Given the description of an element on the screen output the (x, y) to click on. 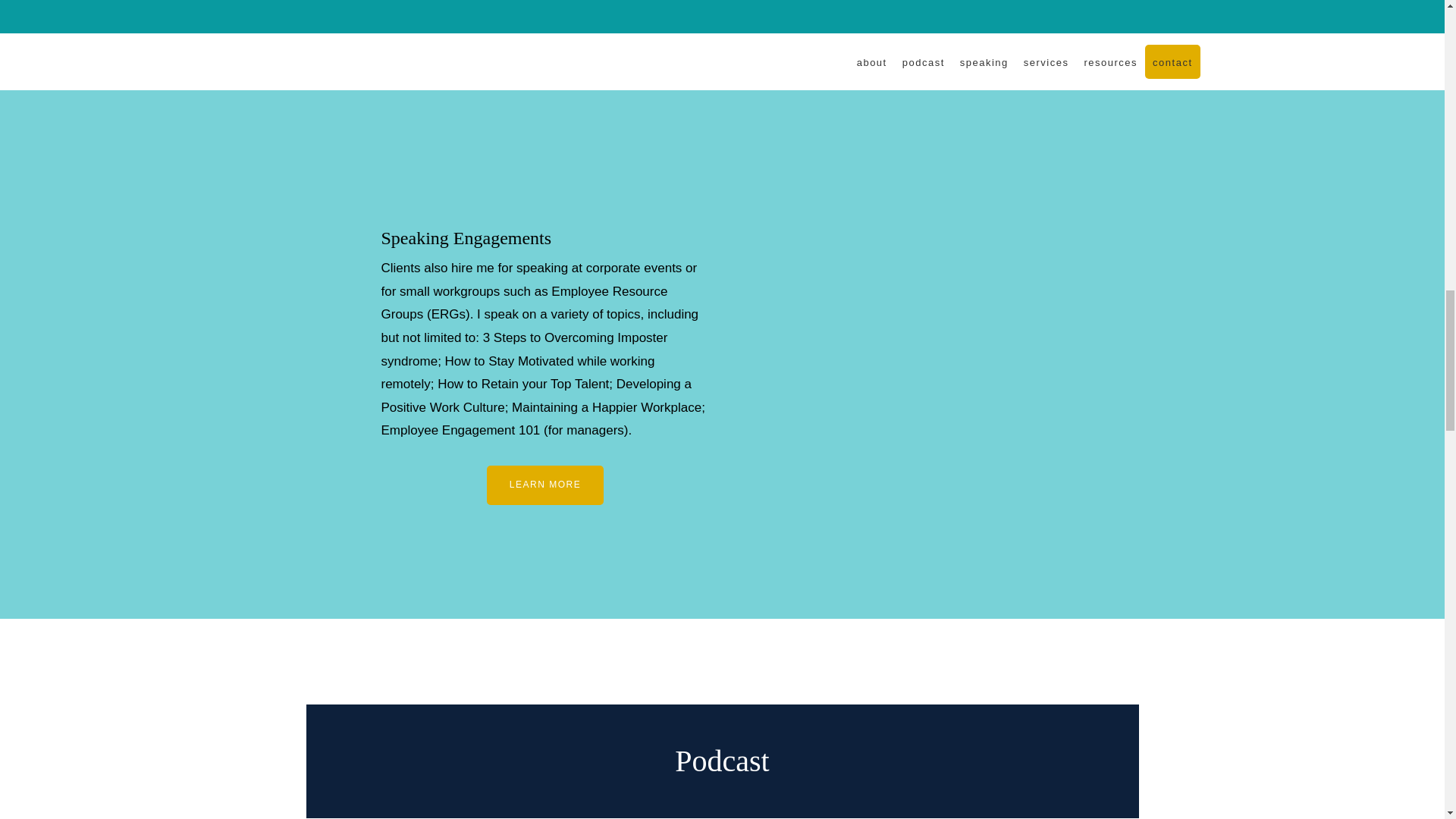
LEARN MORE (545, 485)
